Given the description of an element on the screen output the (x, y) to click on. 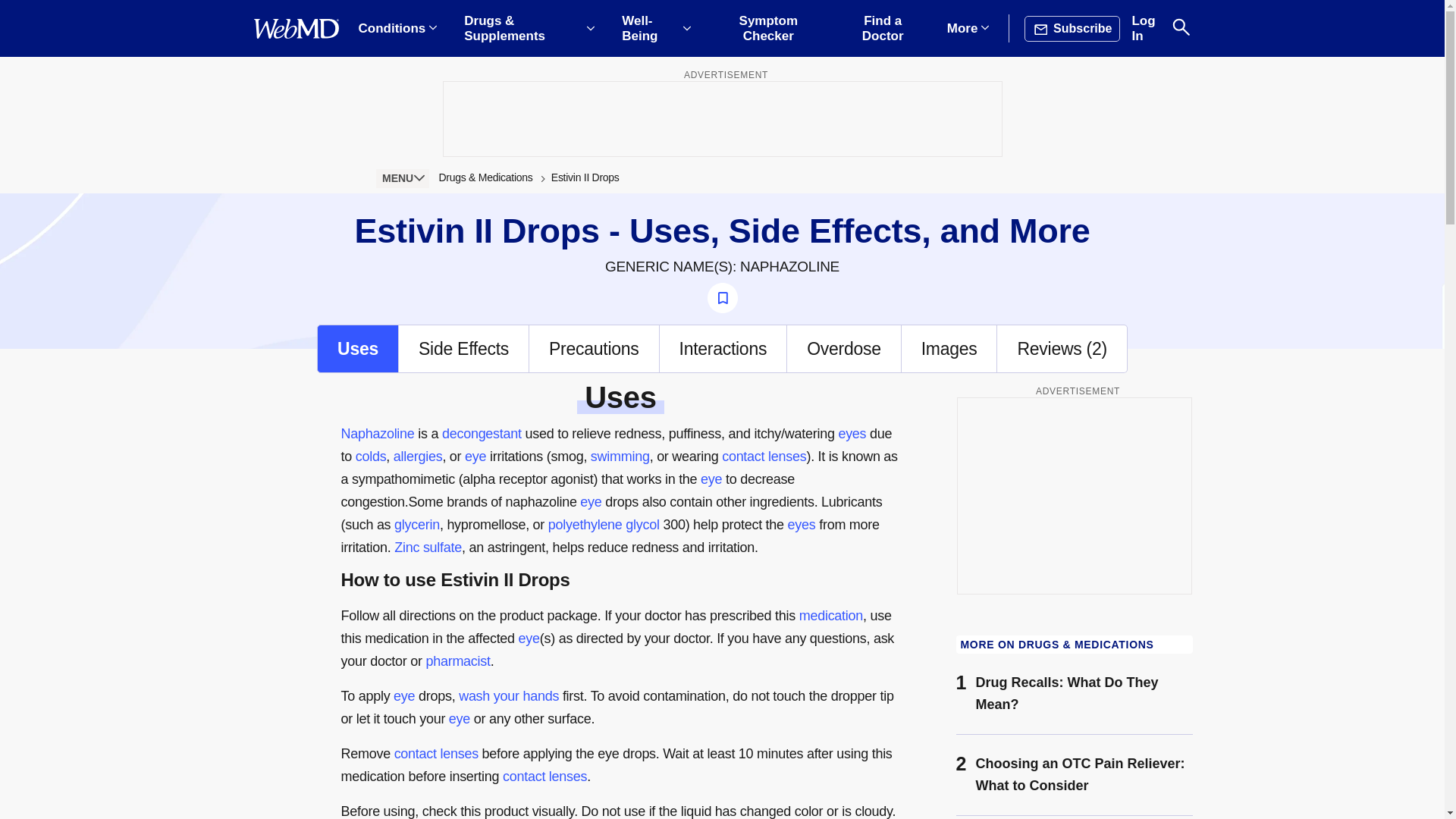
3rd party ad content (1073, 495)
Conditions (397, 28)
3rd party ad content (721, 119)
